Given the description of an element on the screen output the (x, y) to click on. 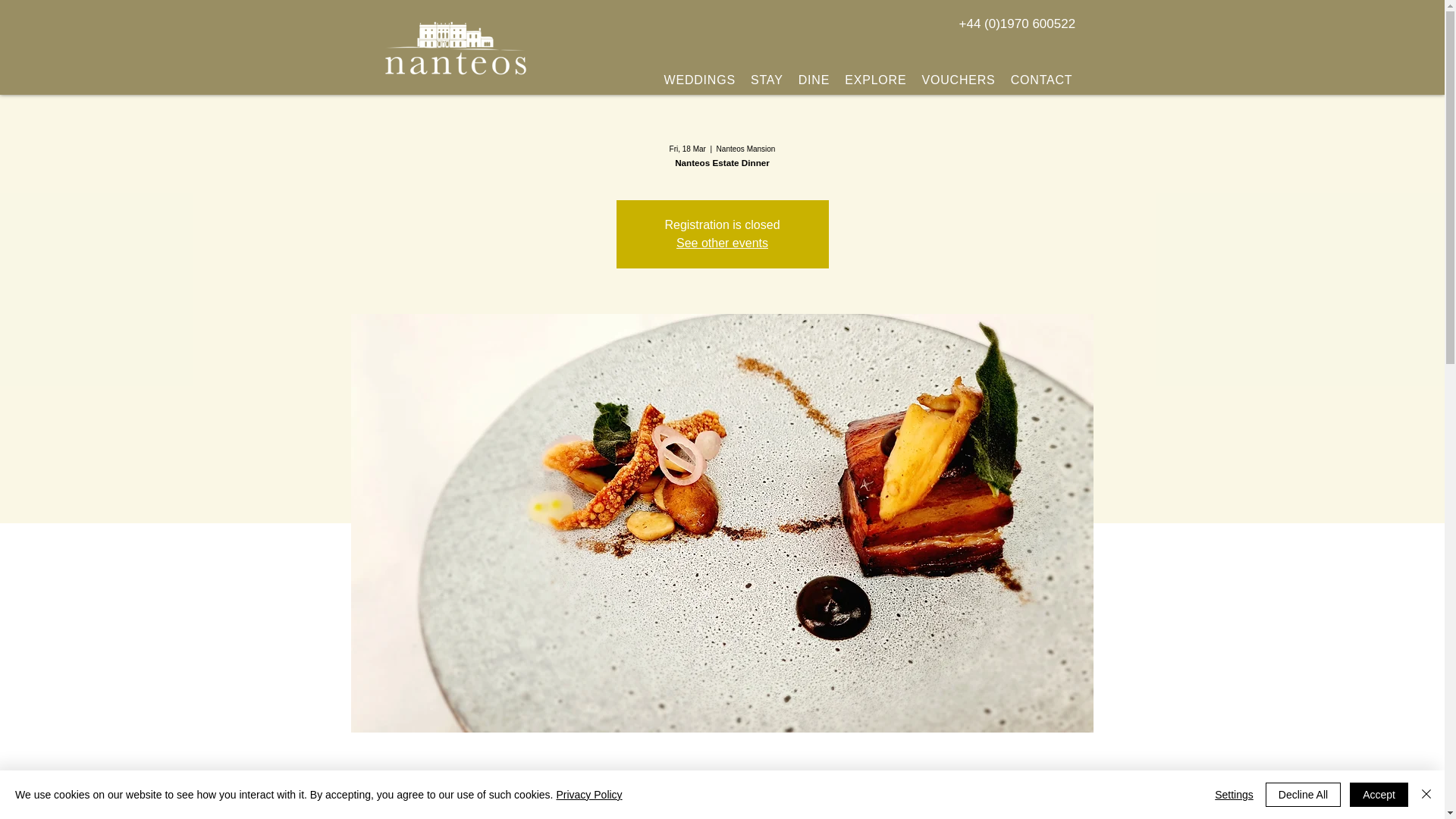
Decline All (1302, 794)
VOUCHERS (958, 80)
Accept (1378, 794)
See other events (722, 242)
CONTACT (1041, 80)
Privacy Policy (588, 794)
